Given the description of an element on the screen output the (x, y) to click on. 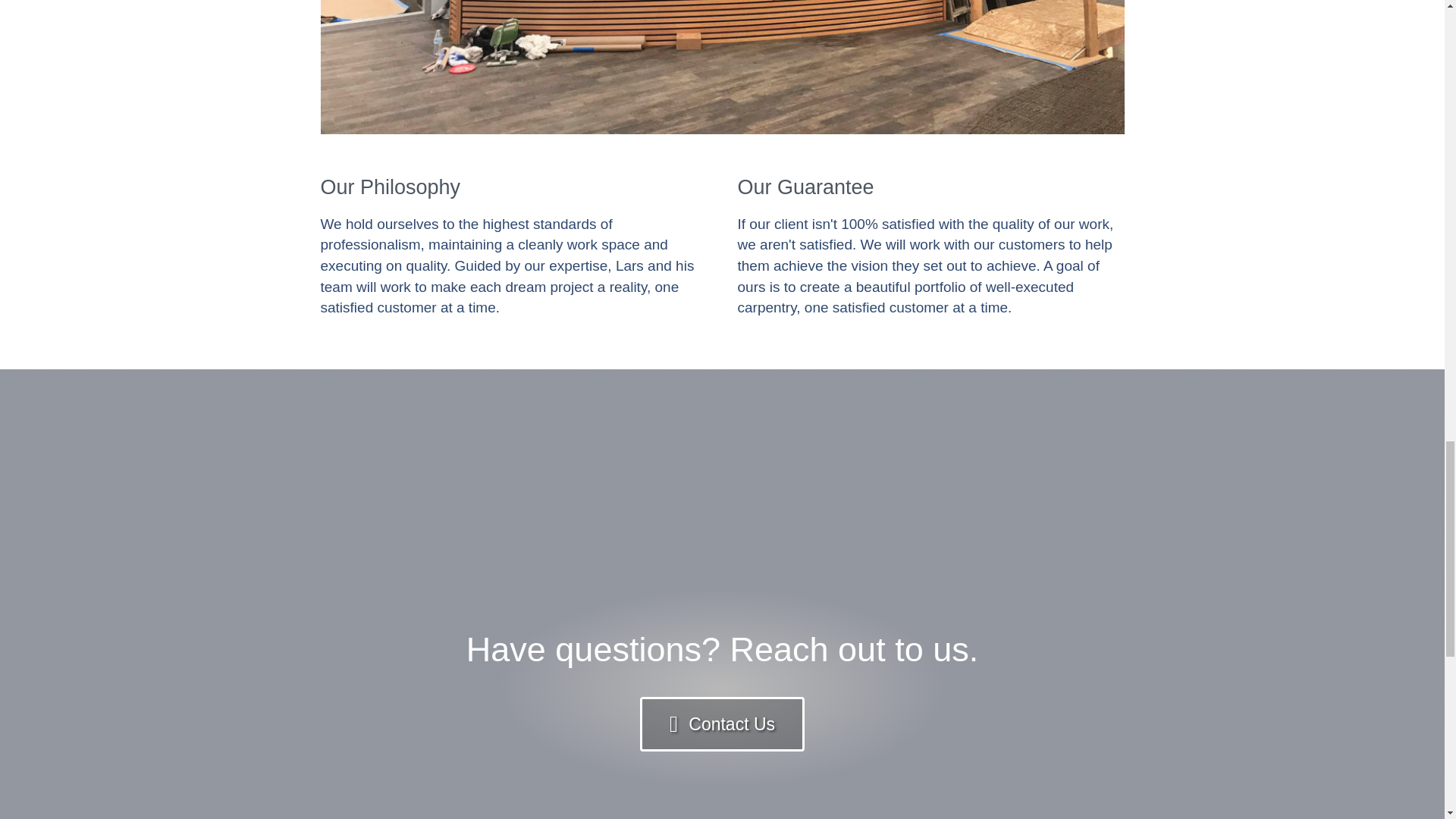
Contact Us (722, 723)
